Given the description of an element on the screen output the (x, y) to click on. 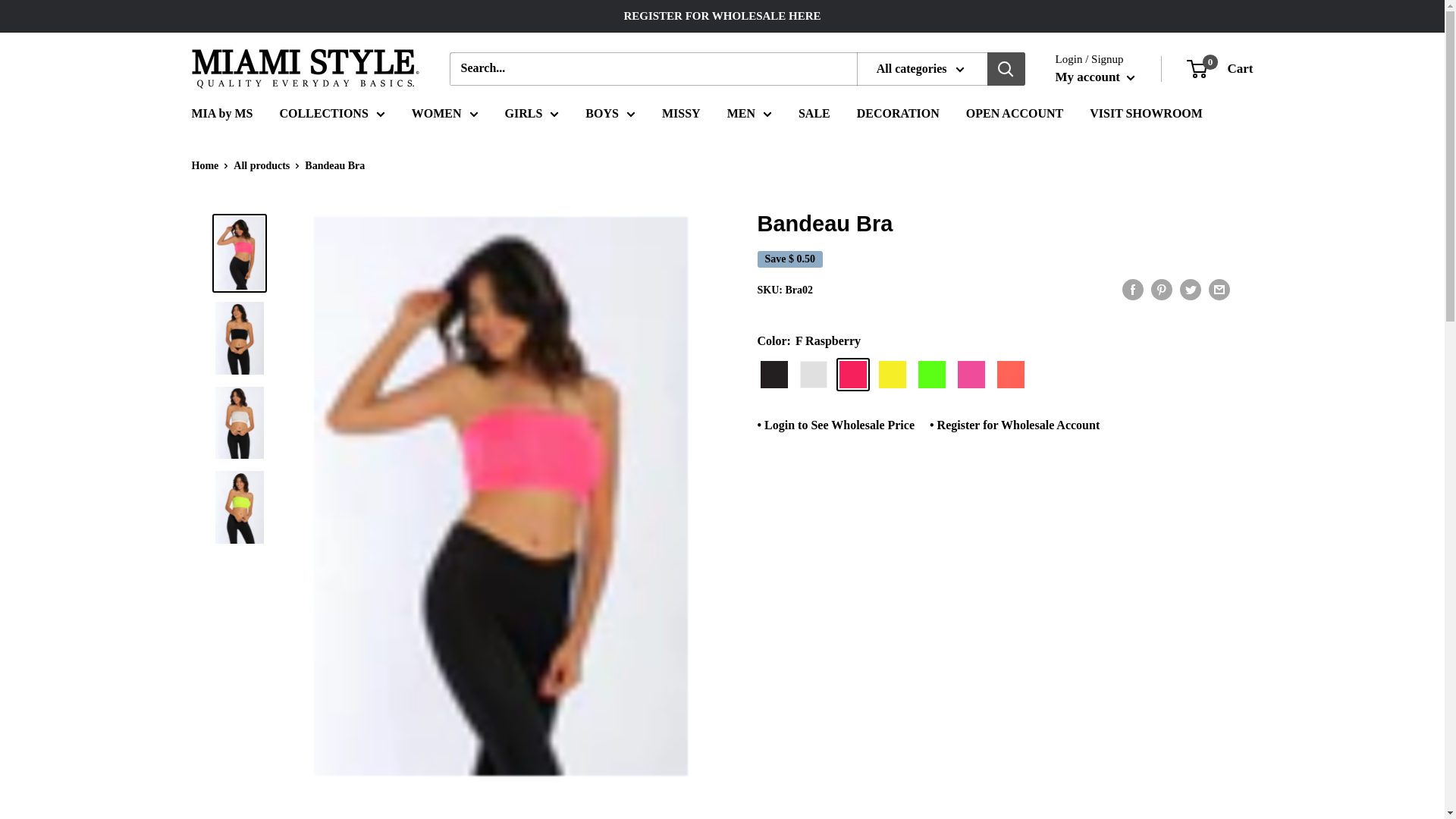
REGISTER FOR WHOLESALE HERE (722, 15)
Neon Yellow (891, 374)
Neon Lime (930, 374)
Black (773, 374)
White (813, 374)
Neon Pink (970, 374)
Neon Coral (1009, 374)
F Raspberry (852, 374)
